Given the description of an element on the screen output the (x, y) to click on. 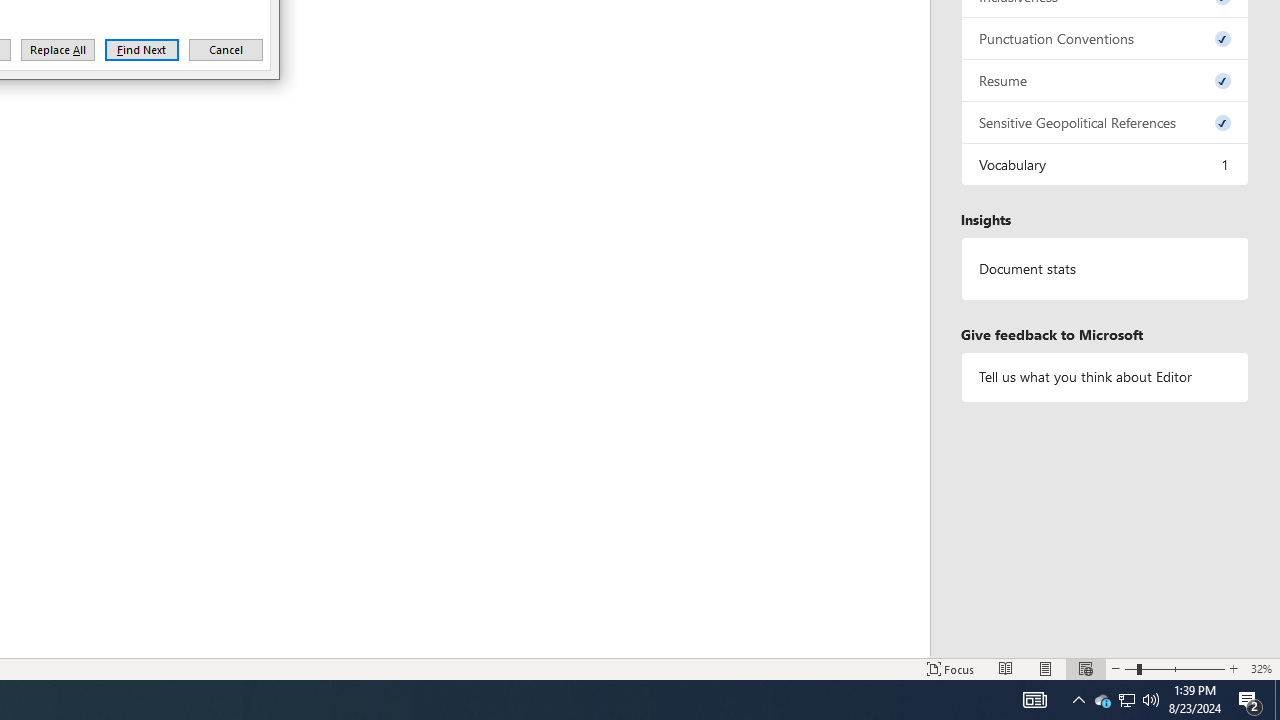
Zoom 32% (1261, 668)
Find Next (141, 49)
Vocabulary, 1 issue. Press space or enter to review items. (1105, 164)
Replace All (58, 49)
